Given the description of an element on the screen output the (x, y) to click on. 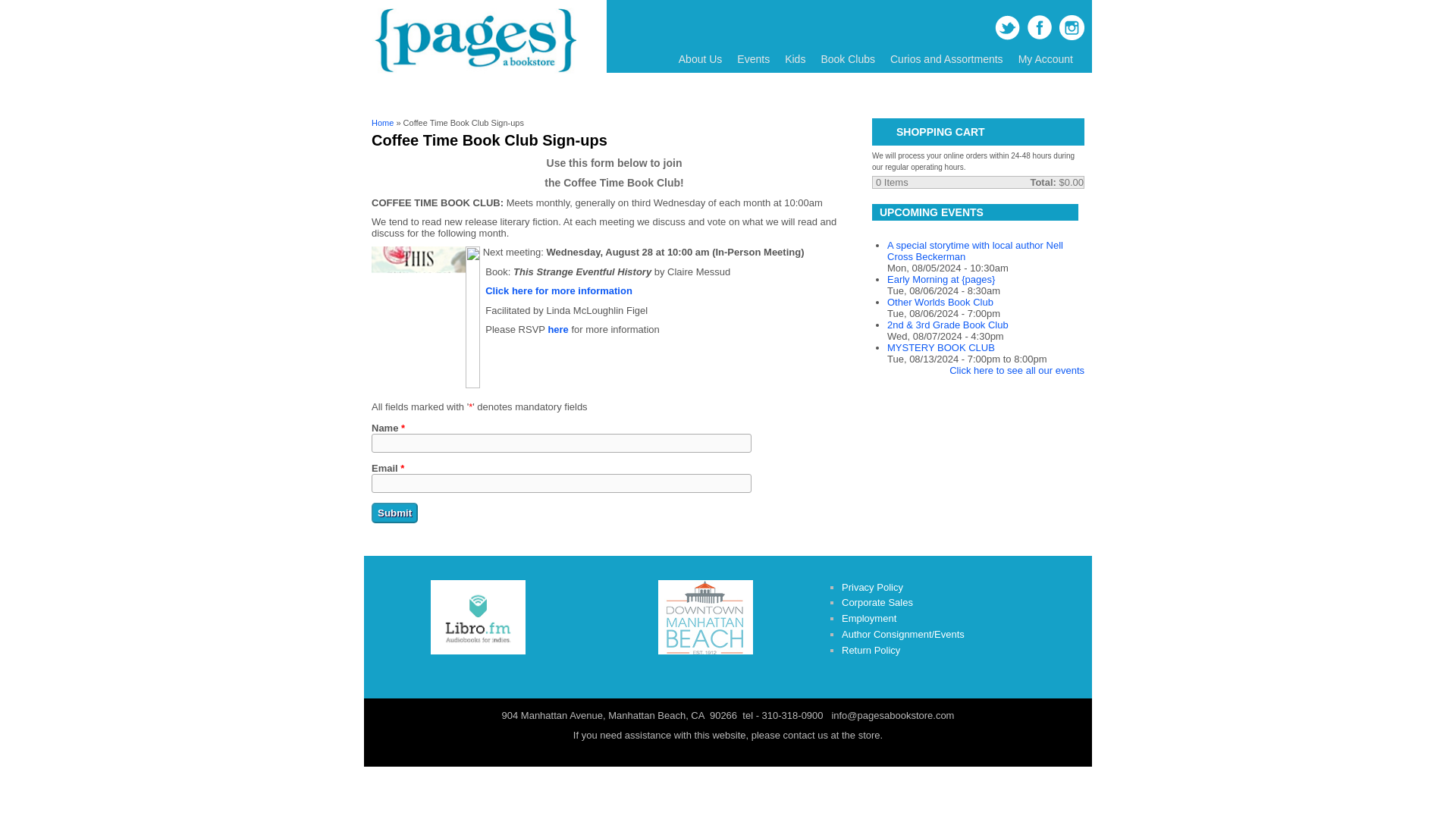
Click here for more information (557, 290)
Employment (868, 618)
My Account (1045, 58)
Return Policy (870, 650)
MYSTERY BOOK CLUB (940, 347)
Corporate Sales (876, 602)
A special storytime with local author Nell Cross Beckerman (974, 250)
Curios and Assortments (946, 58)
About Us (700, 58)
Submit (394, 512)
Privacy Policy (871, 586)
Kids (794, 58)
Submit (394, 512)
View your shopping cart. (885, 133)
Home (473, 70)
